Given the description of an element on the screen output the (x, y) to click on. 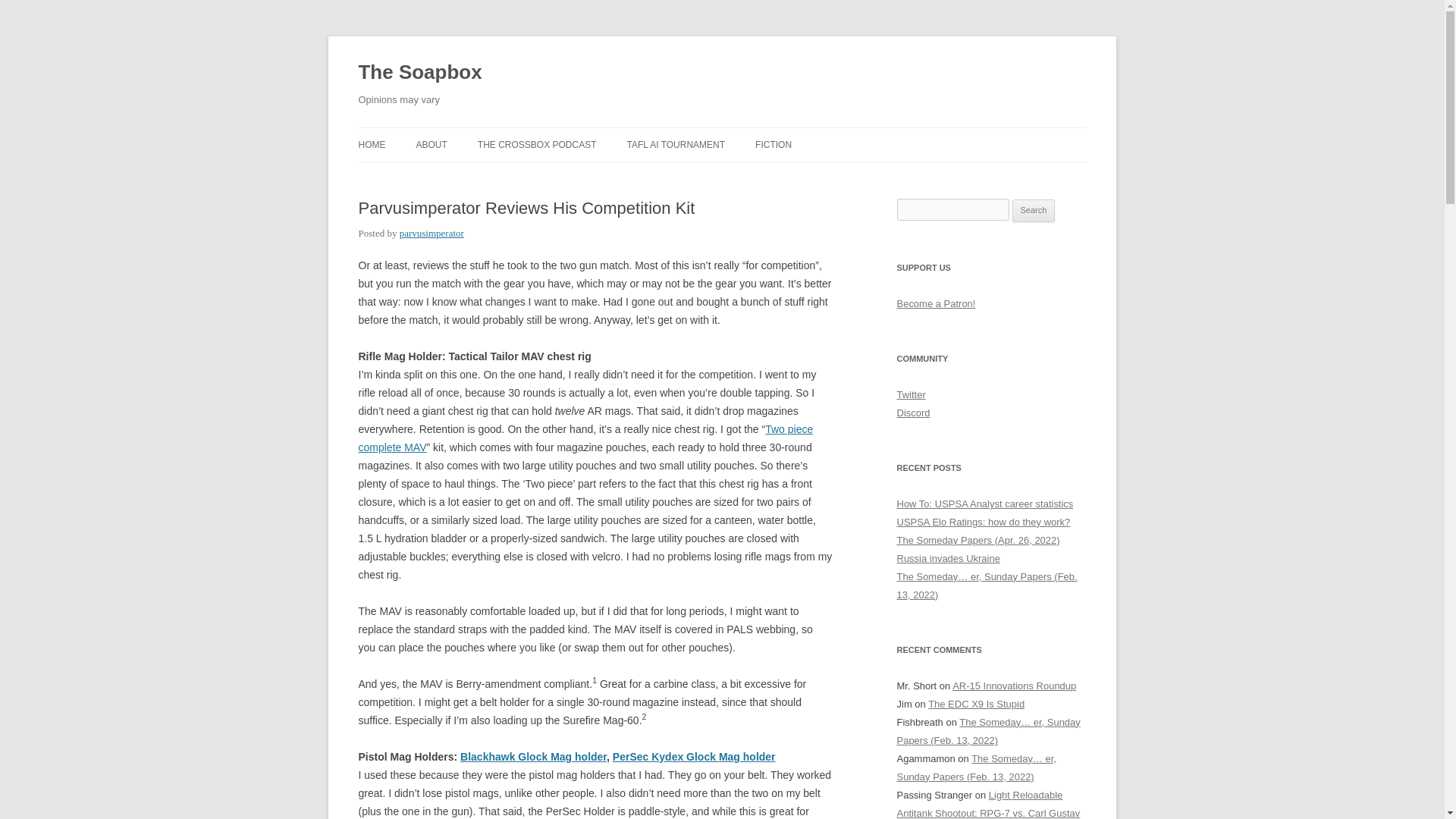
ABOUT (430, 144)
THE CROSSBOX PODCAST (536, 144)
Posts by parvusimperator (431, 233)
Two piece complete MAV (585, 438)
PerSec Kydex Glock Mag holder (694, 756)
Search (1033, 210)
The Soapbox (419, 72)
AR-15 Innovations Roundup (1013, 685)
USPSA Elo Ratings: how do they work? (983, 521)
Blackhawk Glock Mag holder (533, 756)
